Given the description of an element on the screen output the (x, y) to click on. 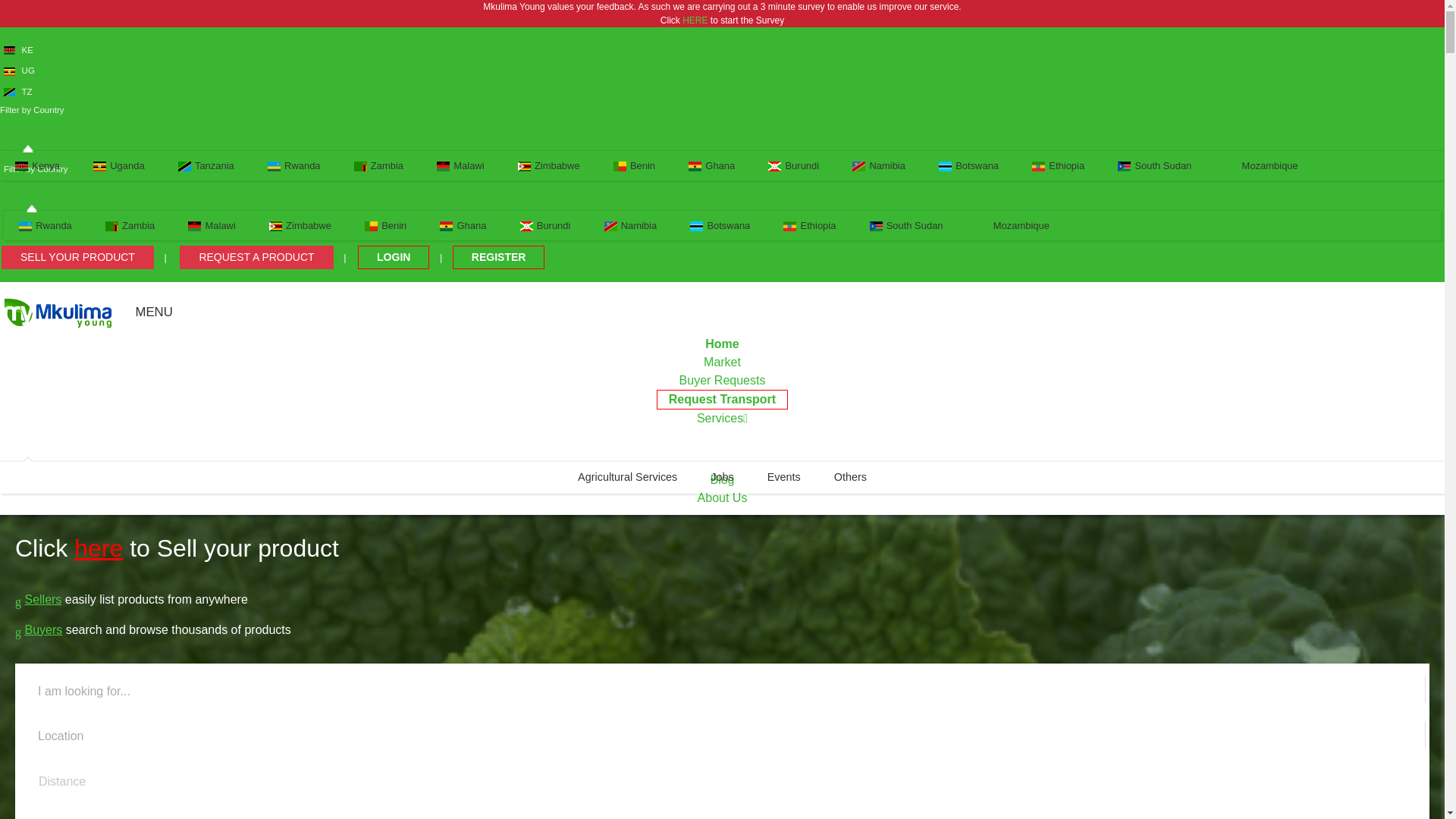
REGISTER (498, 257)
Rwanda (45, 225)
Burundi (544, 225)
Mozambique (1012, 225)
HERE (694, 20)
Filter by Country (37, 110)
Zimbabwe (299, 225)
Malawi (211, 225)
Home (721, 343)
KE (18, 50)
Rwanda (293, 165)
Zambia (130, 225)
Mozambique (1261, 165)
South Sudan (905, 225)
Namibia (878, 165)
